Given the description of an element on the screen output the (x, y) to click on. 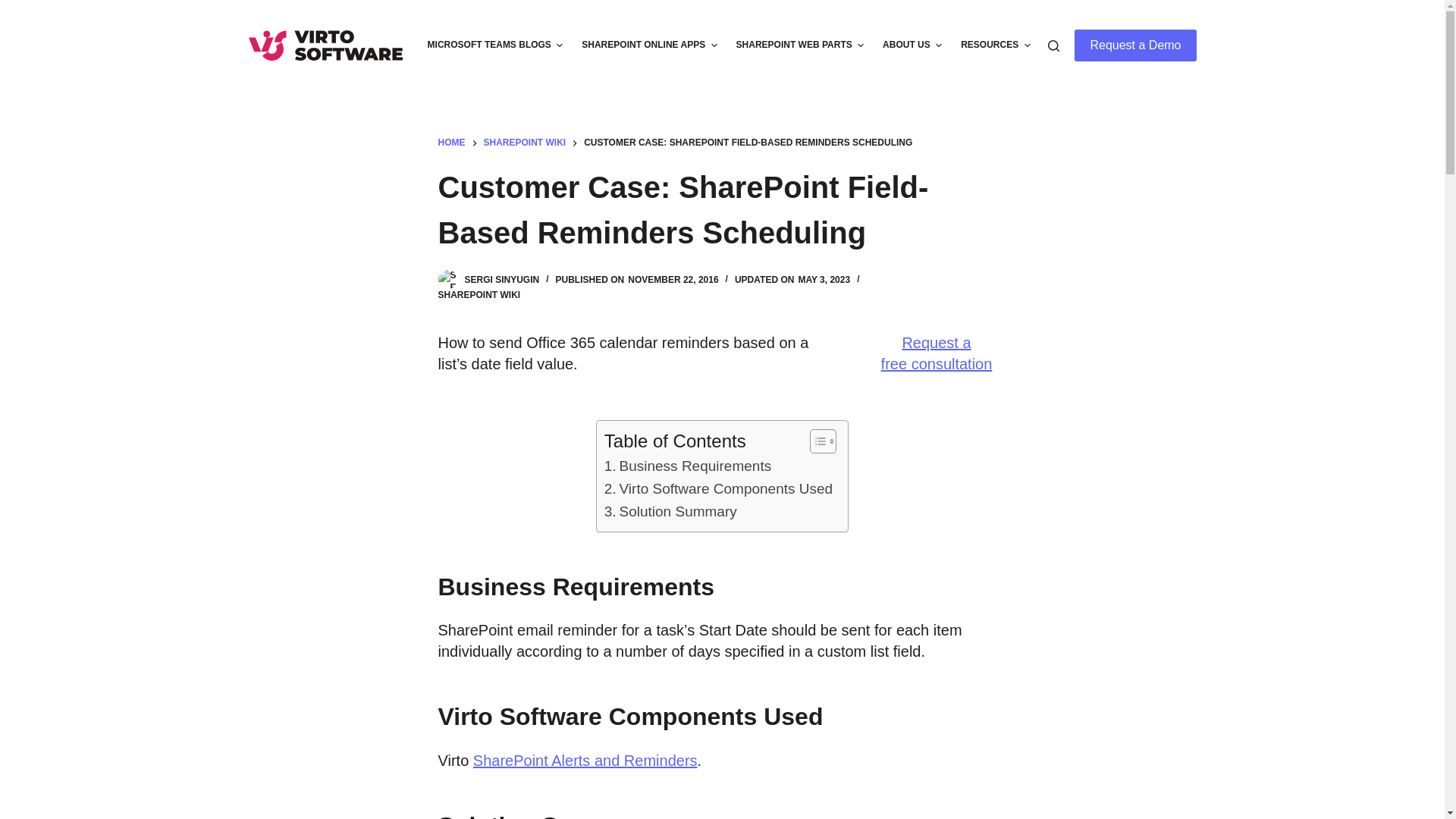
Virto Software Components Used (718, 488)
Business Requirements (687, 466)
Skip to content (15, 7)
Posts by Sergi Sinyugin (501, 279)
Solution Summary (670, 511)
